Given the description of an element on the screen output the (x, y) to click on. 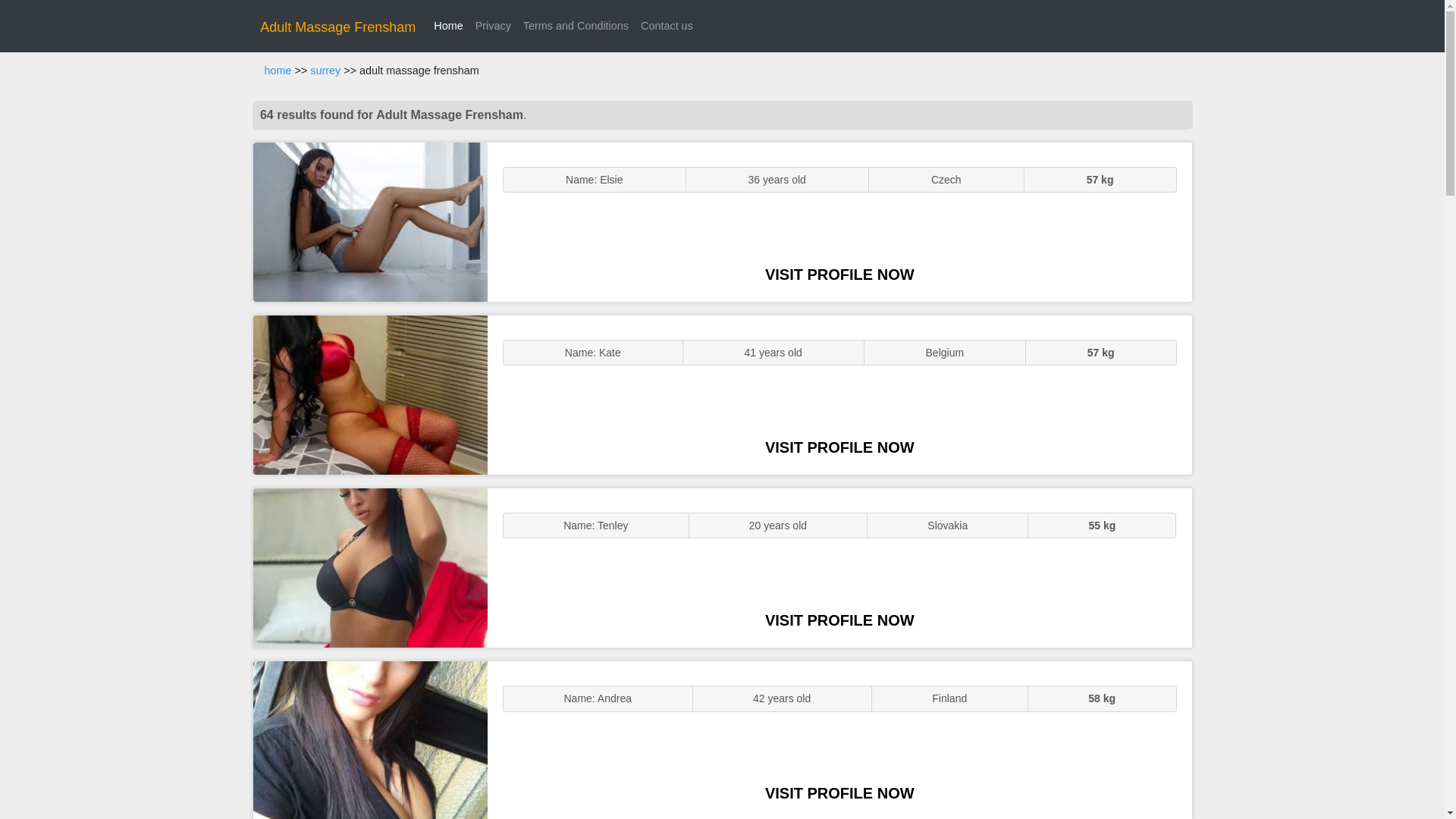
Sluts (370, 739)
Terms and Conditions (575, 25)
Adult Massage Frensham (337, 27)
home (277, 70)
VISIT PROFILE NOW (839, 792)
 ENGLISH STUNNER (370, 222)
Contact us (666, 25)
Sexy (370, 567)
surrey (325, 70)
VISIT PROFILE NOW (839, 619)
GFE (370, 395)
Privacy (492, 25)
VISIT PROFILE NOW (839, 274)
VISIT PROFILE NOW (839, 446)
